Given the description of an element on the screen output the (x, y) to click on. 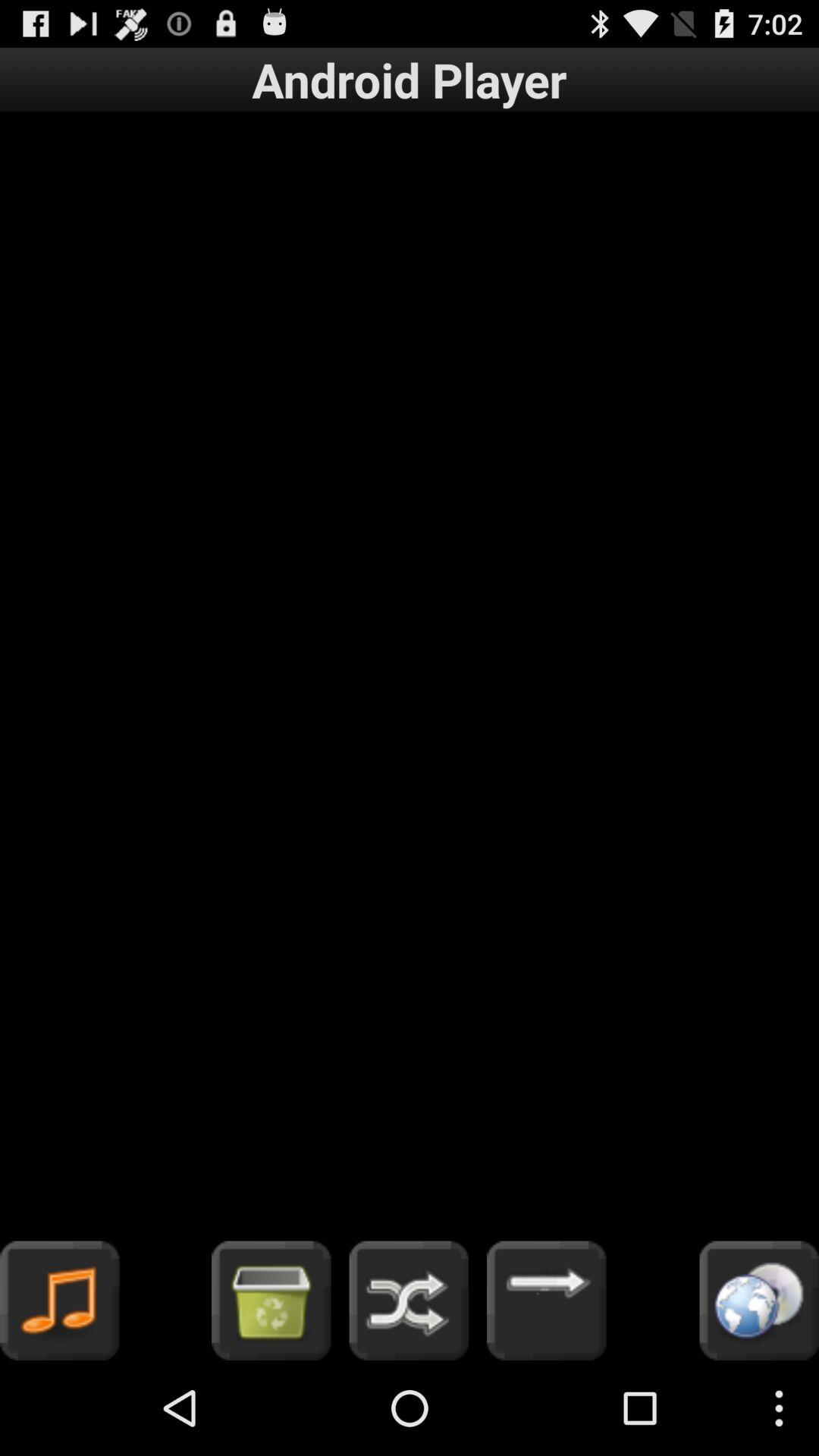
select the item at the center (409, 676)
